Given the description of an element on the screen output the (x, y) to click on. 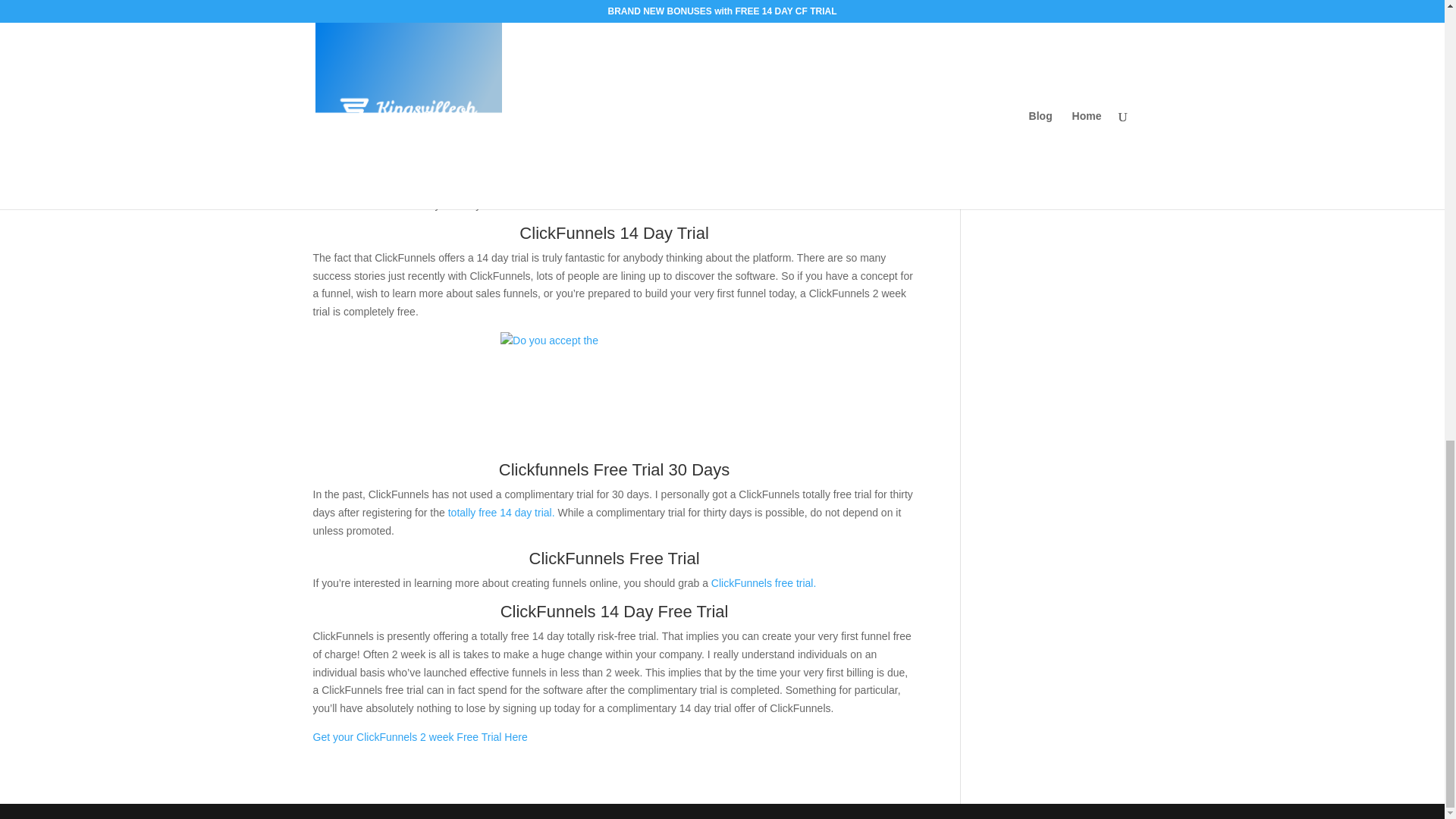
Get your ClickFunnels 2 week Free Trial Here (420, 736)
totally free 14 day trial.  (502, 512)
ClickFunnels free trial. (761, 582)
